Given the description of an element on the screen output the (x, y) to click on. 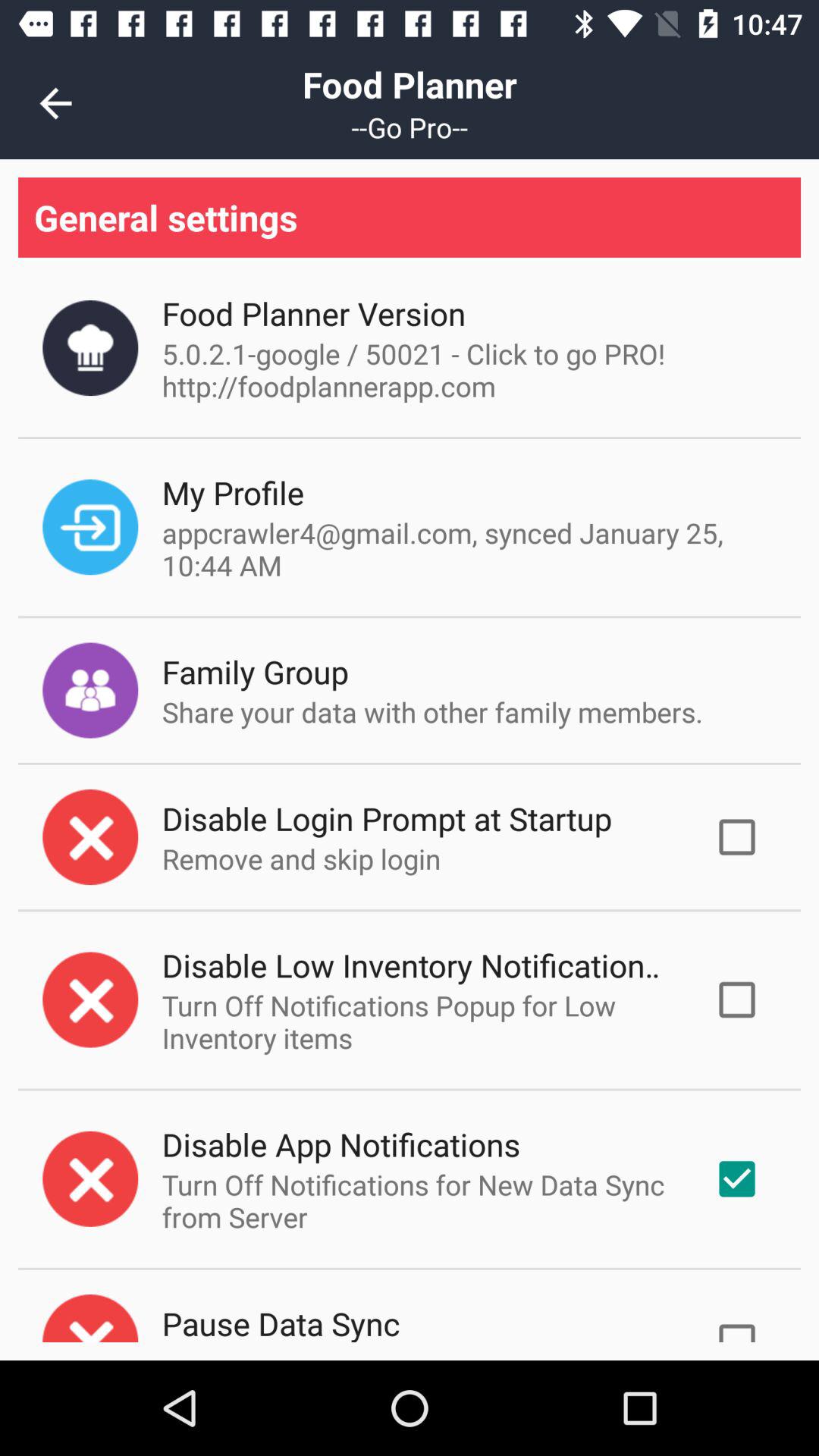
turn on icon above the food planner version (409, 217)
